Given the description of an element on the screen output the (x, y) to click on. 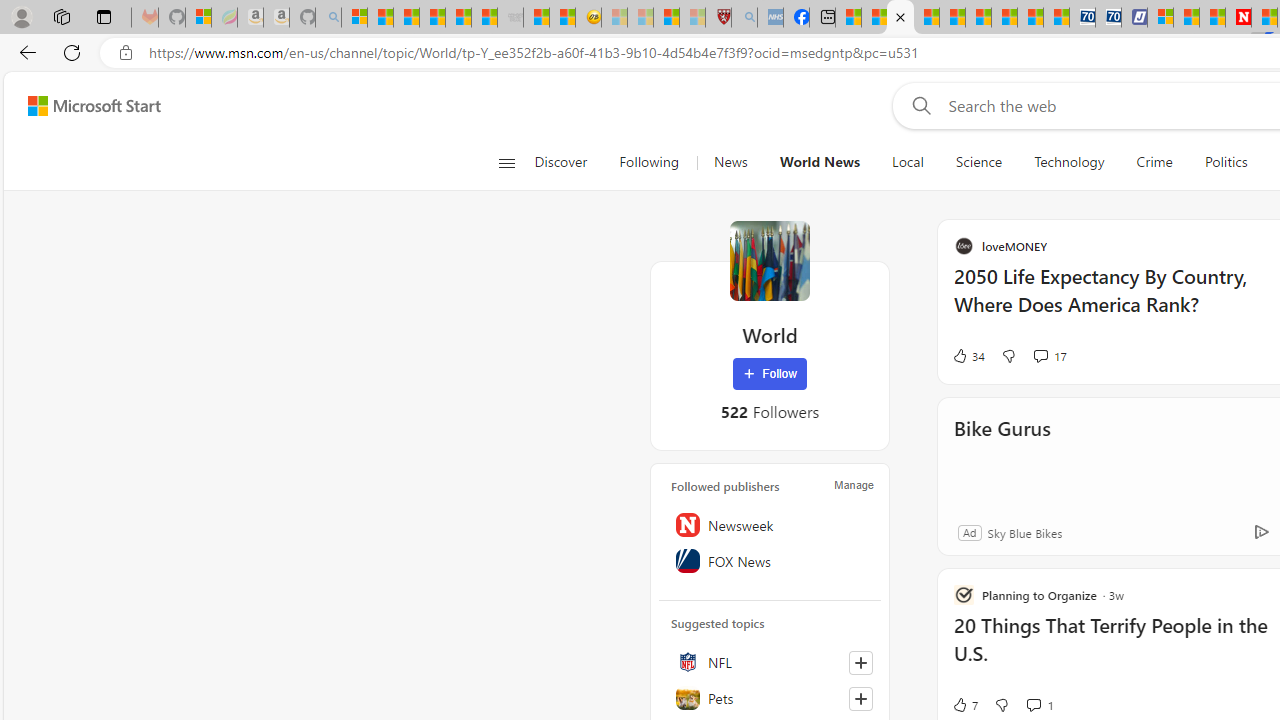
Newsweek - News, Analysis, Politics, Business, Technology (1238, 17)
12 Popular Science Lies that Must be Corrected - Sleeping (692, 17)
